Given the description of an element on the screen output the (x, y) to click on. 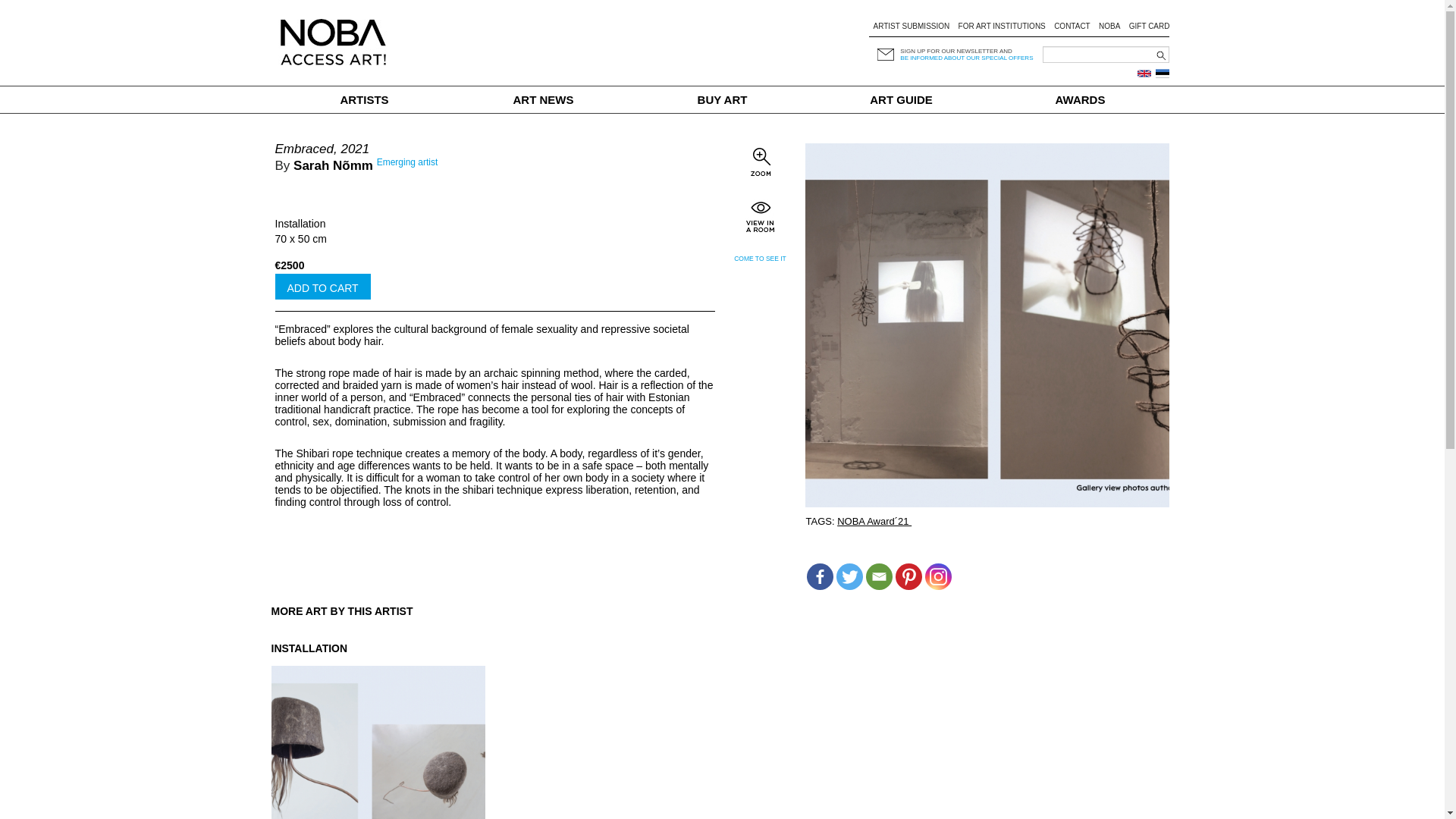
Installation (299, 223)
SIGN UP FOR OUR NEWSLETTER AND (955, 50)
ART NEWS (542, 99)
ART GUIDE (901, 99)
FOR ART INSTITUTIONS (1001, 26)
CONTACT (1072, 26)
Twitter (849, 576)
Facebook (819, 576)
ARTISTS (363, 99)
BE INFORMED ABOUT OUR SPECIAL OFFERS (965, 57)
Eesti (1162, 72)
GIFT CARD (1149, 26)
Email (879, 576)
English (1144, 72)
ARTIST SUBMISSION (910, 26)
